Given the description of an element on the screen output the (x, y) to click on. 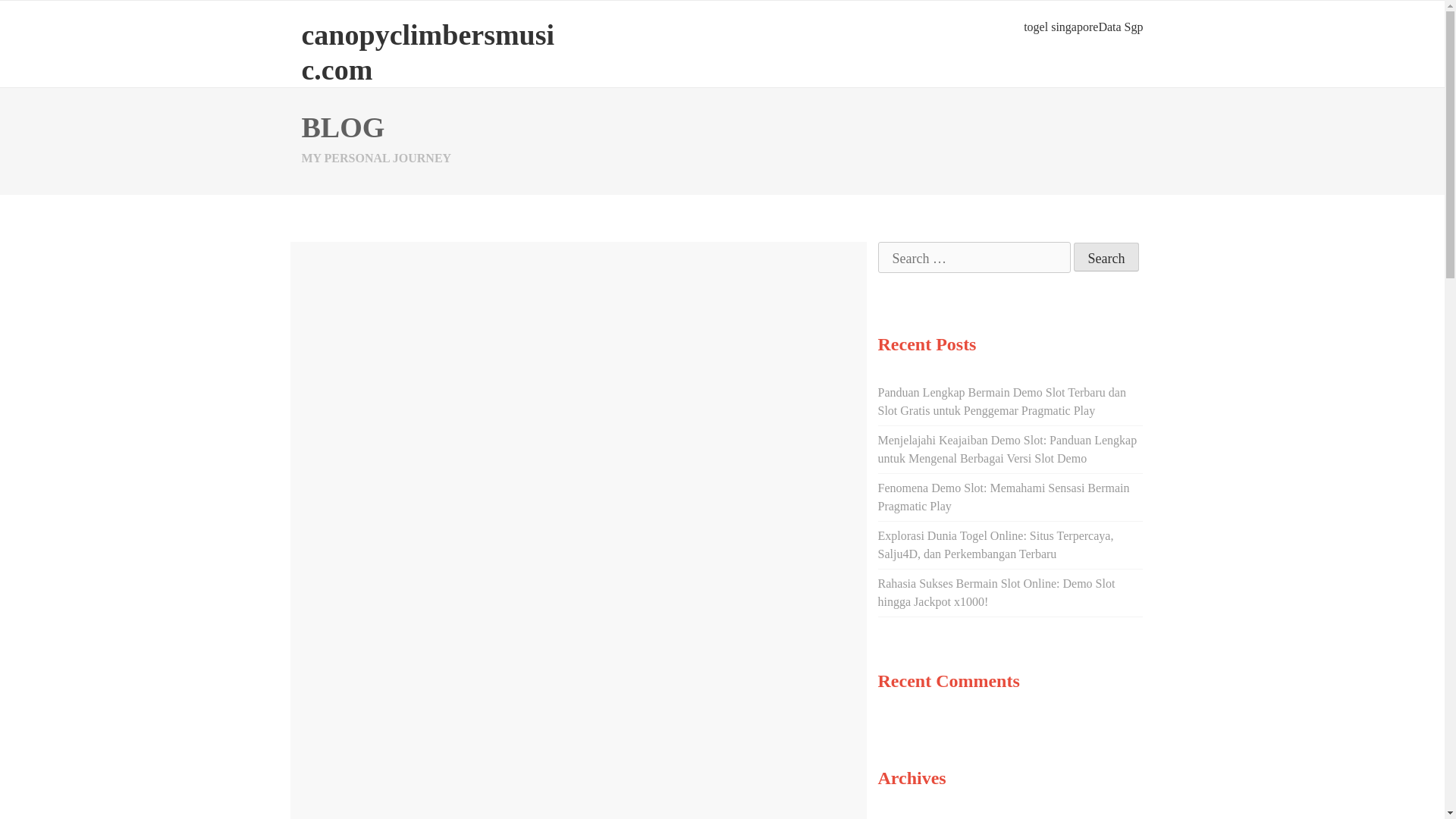
togel singapore (1060, 27)
Fenomena Demo Slot: Memahami Sensasi Bermain Pragmatic Play (1003, 496)
Search (1107, 256)
Search (1107, 256)
How to Play Online Casino Games (513, 306)
Search (1107, 256)
togel online (633, 486)
